Given the description of an element on the screen output the (x, y) to click on. 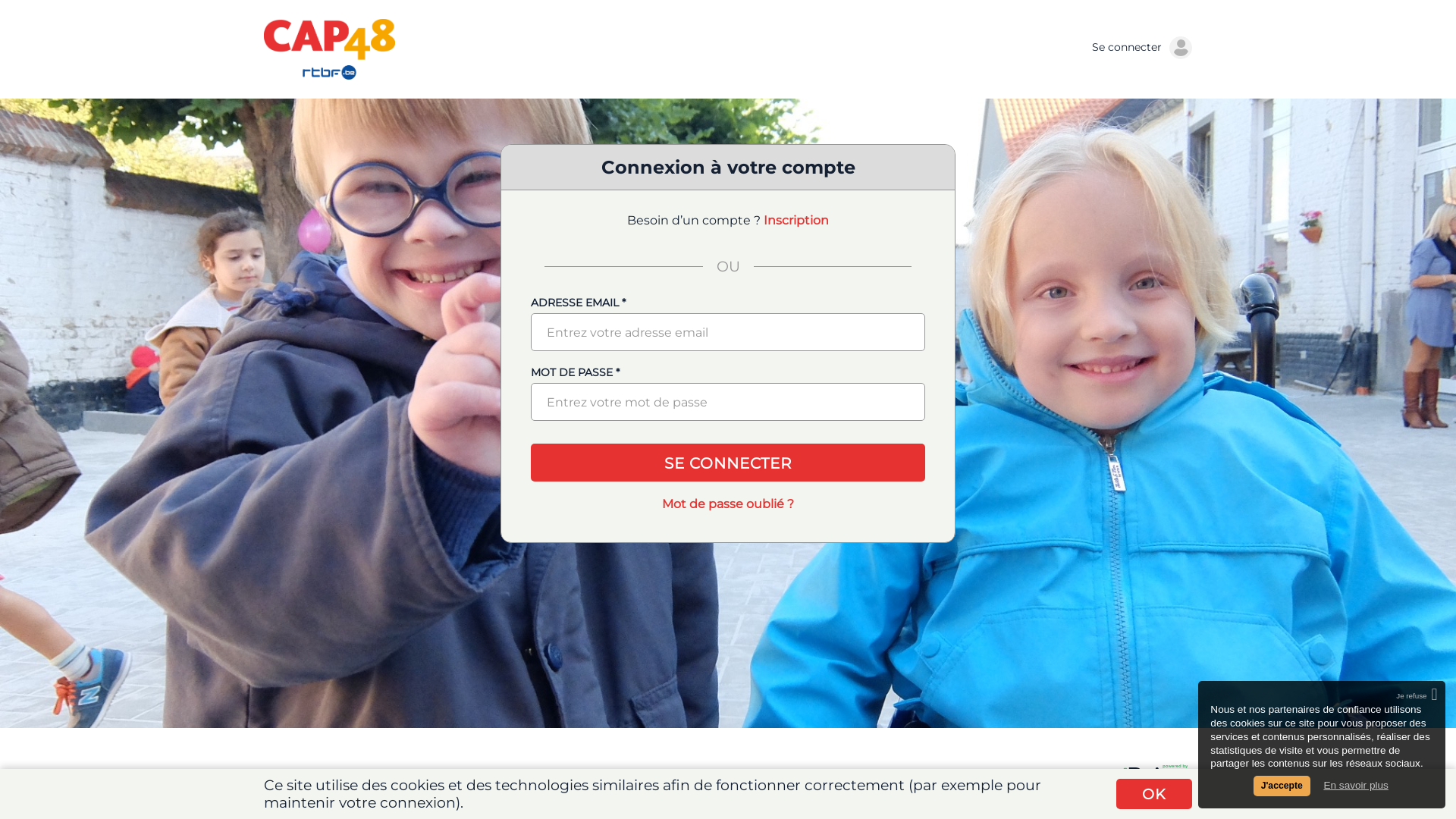
Inscription Element type: text (795, 220)
Se connecter Element type: text (1142, 47)
OK Element type: text (1154, 793)
J'accepte Element type: text (1281, 785)
En savoir plus Element type: text (1355, 784)
SE CONNECTER Element type: text (727, 462)
